Given the description of an element on the screen output the (x, y) to click on. 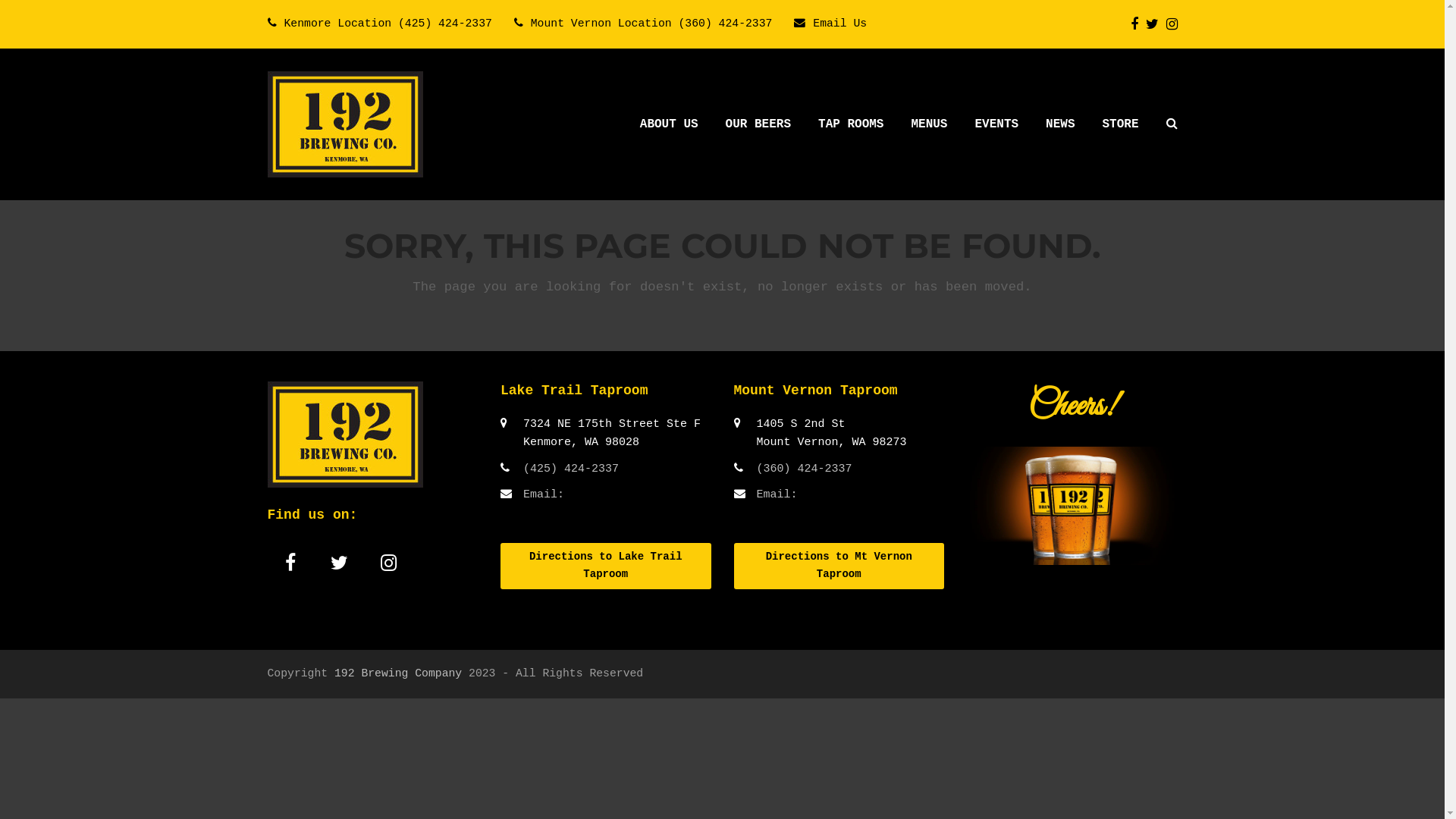
Kenmore Location (425) 424-2337 Element type: text (387, 23)
Facebook Element type: text (289, 562)
TAP ROOMS Element type: text (850, 124)
(425) 424-2337 Element type: text (570, 468)
Email: Element type: text (776, 494)
Instagram Element type: text (388, 562)
192 Brewing Company Element type: text (397, 673)
OUR BEERS Element type: text (757, 124)
Instagram Element type: text (1171, 23)
Directions to Lake Trail Taproom Element type: text (605, 565)
Twitter Element type: text (1151, 23)
Directions to Mt Vernon Taproom Element type: text (839, 565)
Facebook Element type: text (1133, 23)
STORE Element type: text (1119, 124)
NEWS Element type: text (1059, 124)
MENUS Element type: text (928, 124)
Email: Element type: text (543, 494)
Twitter Element type: text (339, 562)
Mount Vernon Location (360) 424-2337 Element type: text (651, 23)
Email Us Element type: text (839, 23)
(360) 424-2337 Element type: text (804, 468)
beers-192-brewery Element type: hover (1071, 505)
ABOUT US Element type: text (669, 124)
EVENTS Element type: text (996, 124)
